Given the description of an element on the screen output the (x, y) to click on. 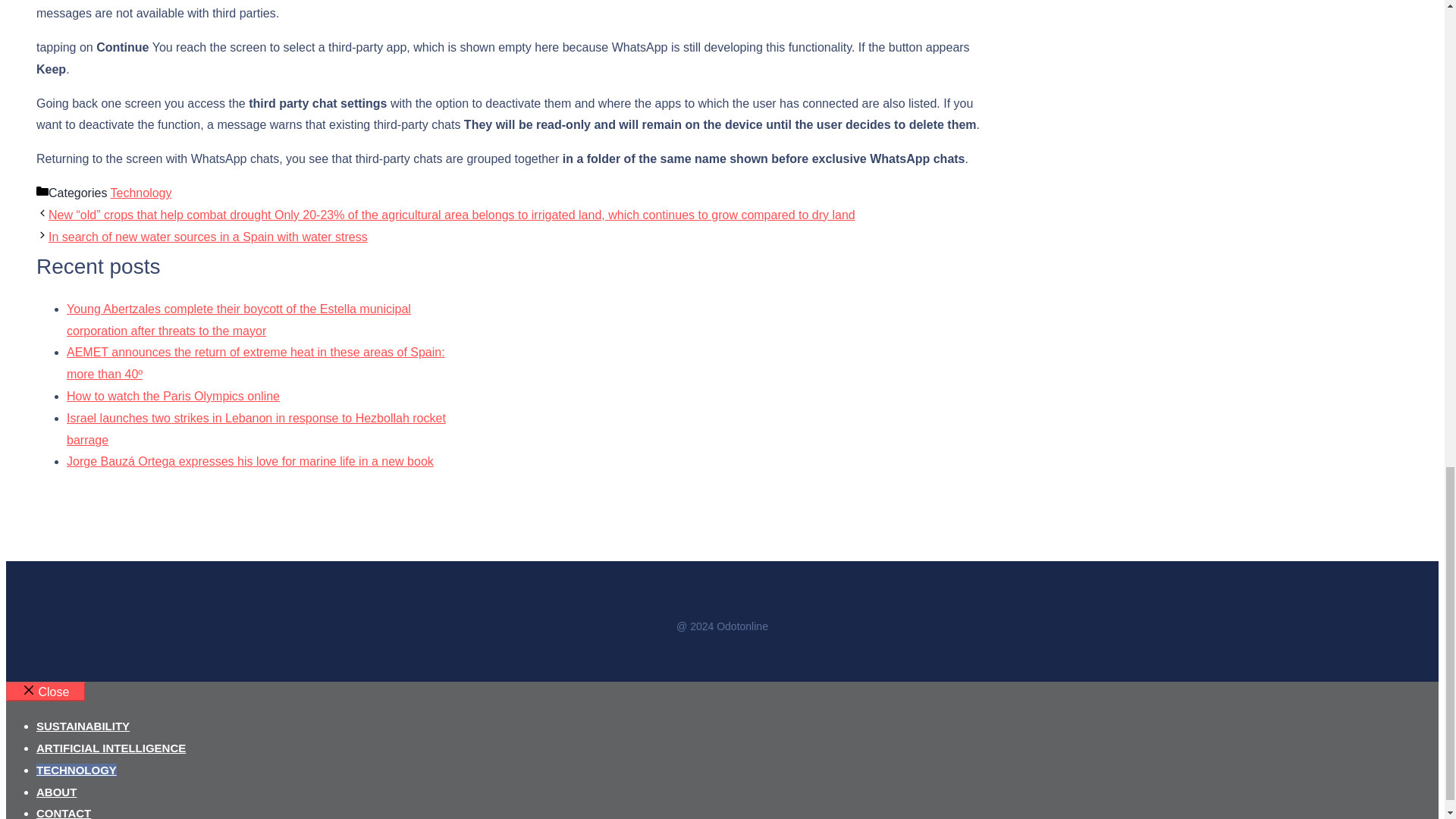
ARTIFICIAL INTELLIGENCE (111, 748)
Close (45, 691)
ABOUT (56, 791)
How to watch the Paris Olympics online (172, 395)
In search of new water sources in a Spain with water stress (208, 236)
SUSTAINABILITY (82, 725)
Technology (140, 192)
TECHNOLOGY (76, 769)
